Given the description of an element on the screen output the (x, y) to click on. 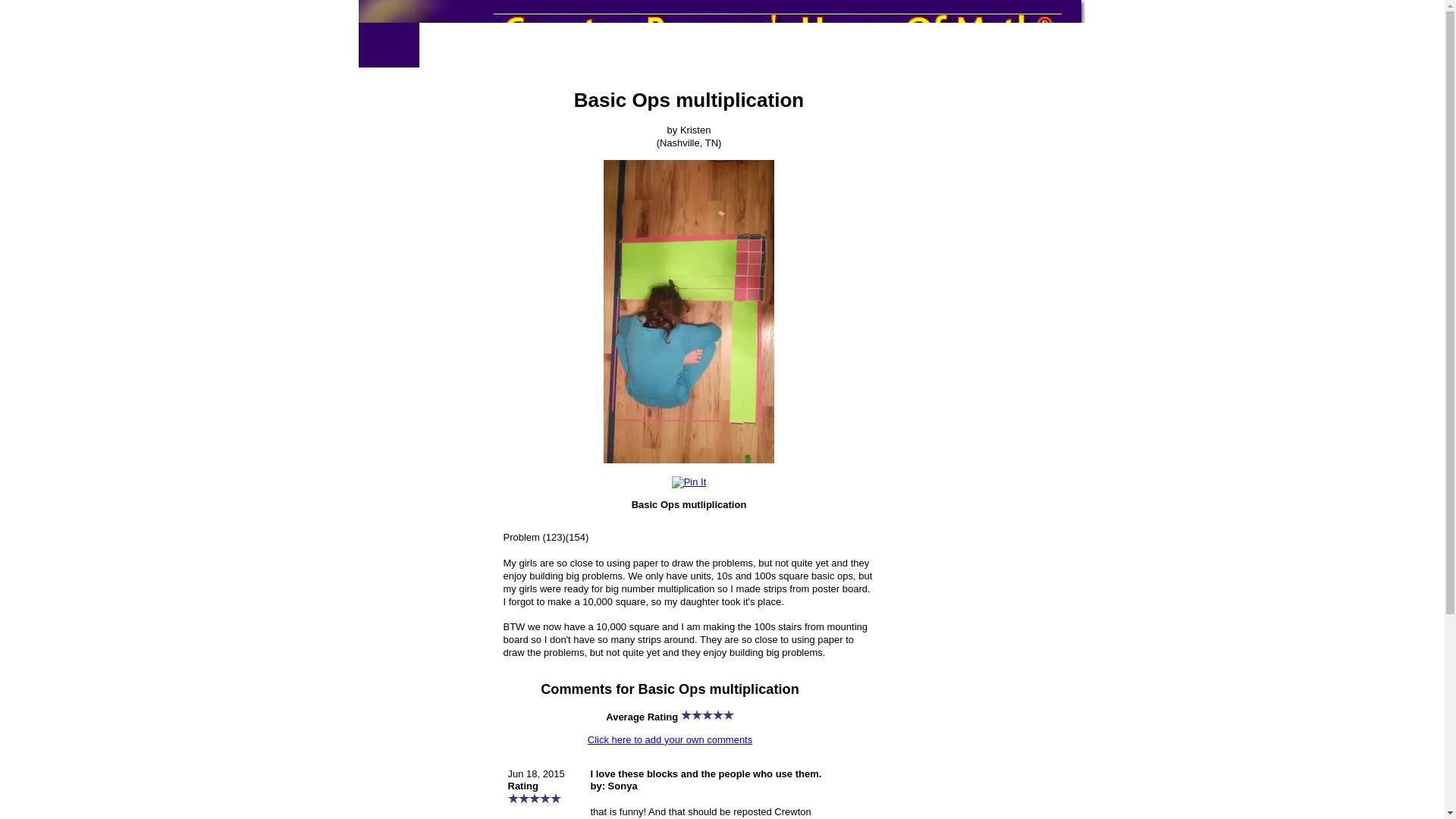
Basic Ops mutliplication (689, 311)
Click here to add your own comments (670, 739)
Pin It (688, 481)
